Given the description of an element on the screen output the (x, y) to click on. 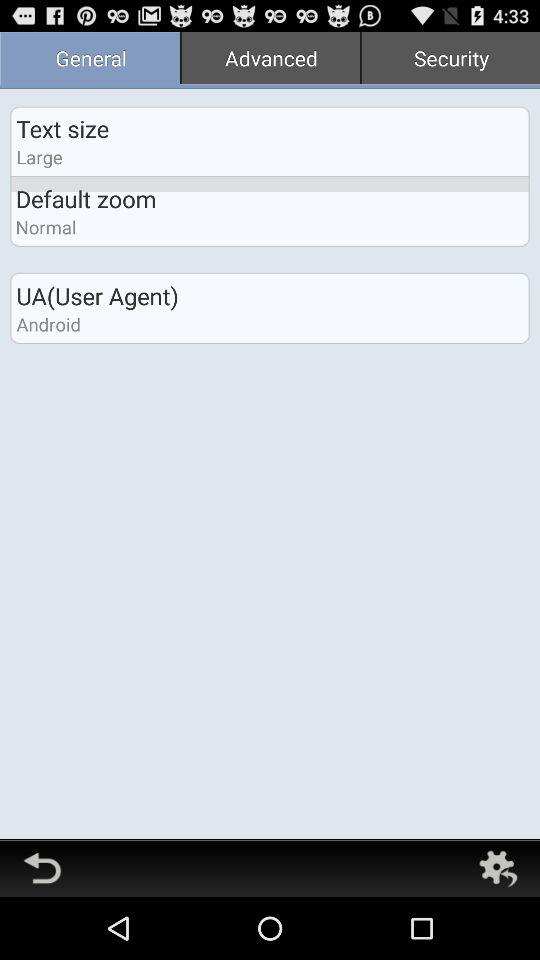
choose item below the normal app (97, 295)
